Given the description of an element on the screen output the (x, y) to click on. 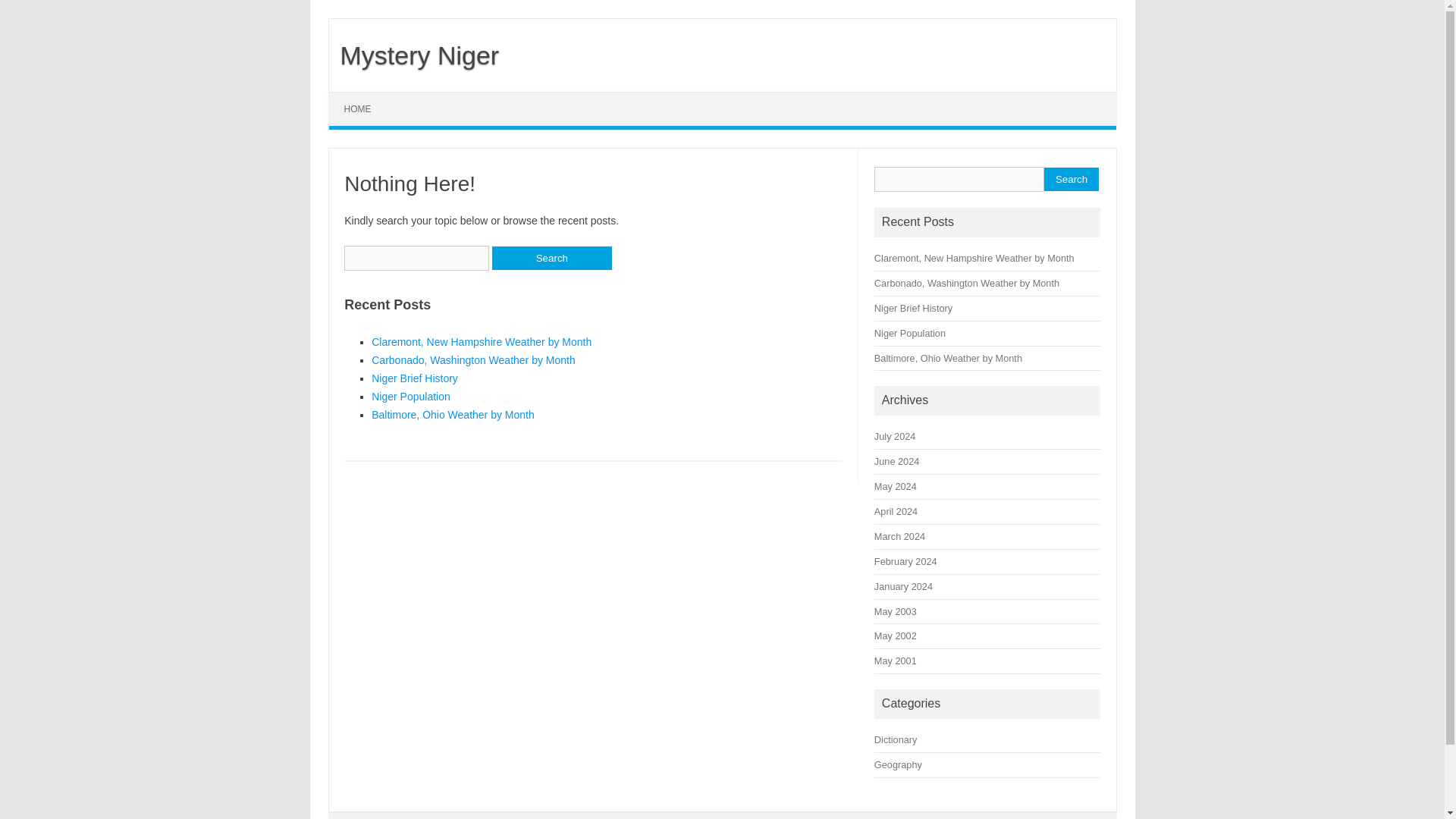
Niger Population (410, 396)
HOME (358, 109)
March 2024 (899, 536)
Geography (898, 764)
July 2024 (895, 436)
Skip to content (363, 96)
January 2024 (904, 586)
Search (551, 258)
Mystery Niger (414, 54)
May 2024 (896, 486)
